Given the description of an element on the screen output the (x, y) to click on. 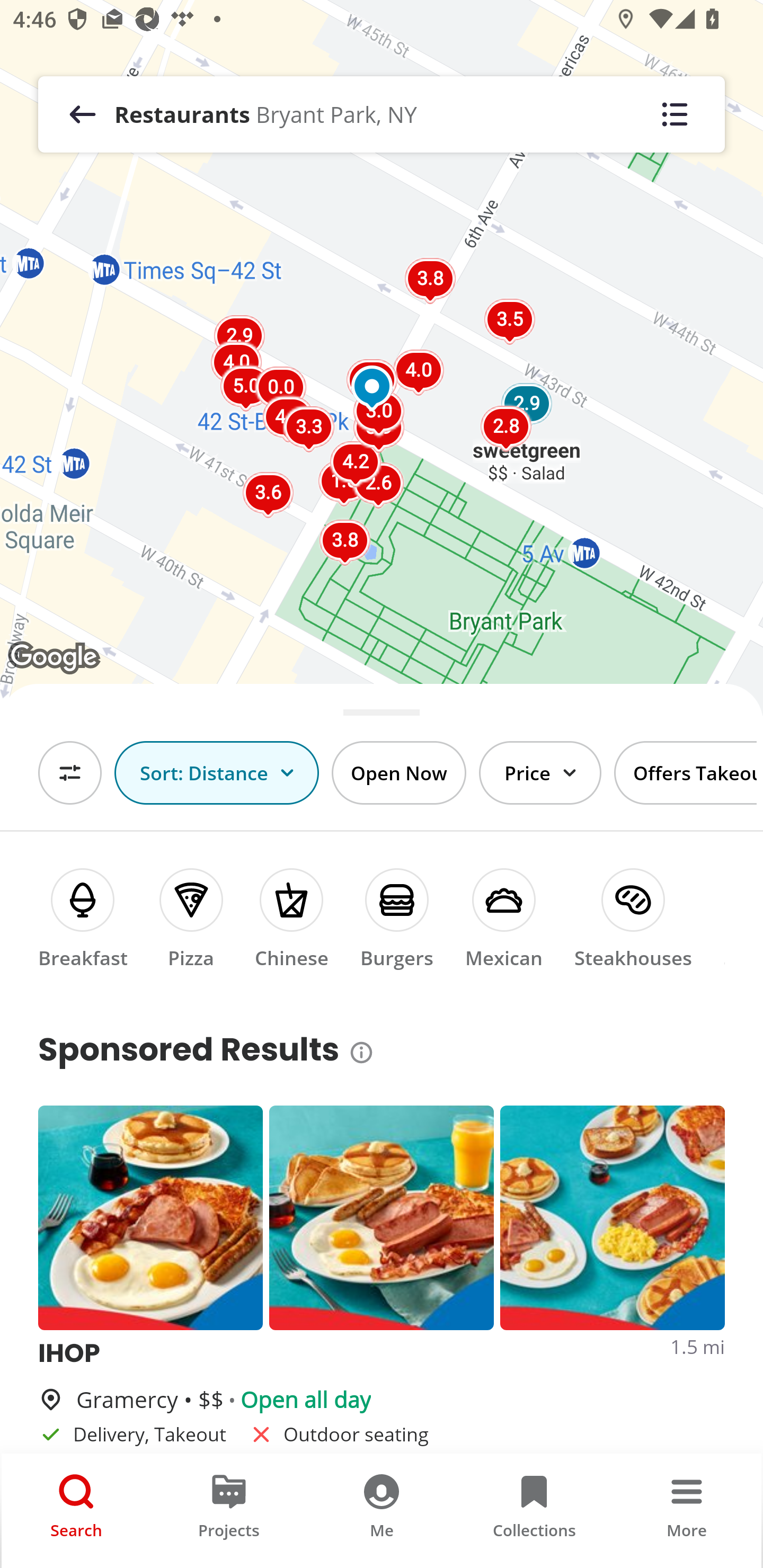
See all filters (69, 772)
